Given the description of an element on the screen output the (x, y) to click on. 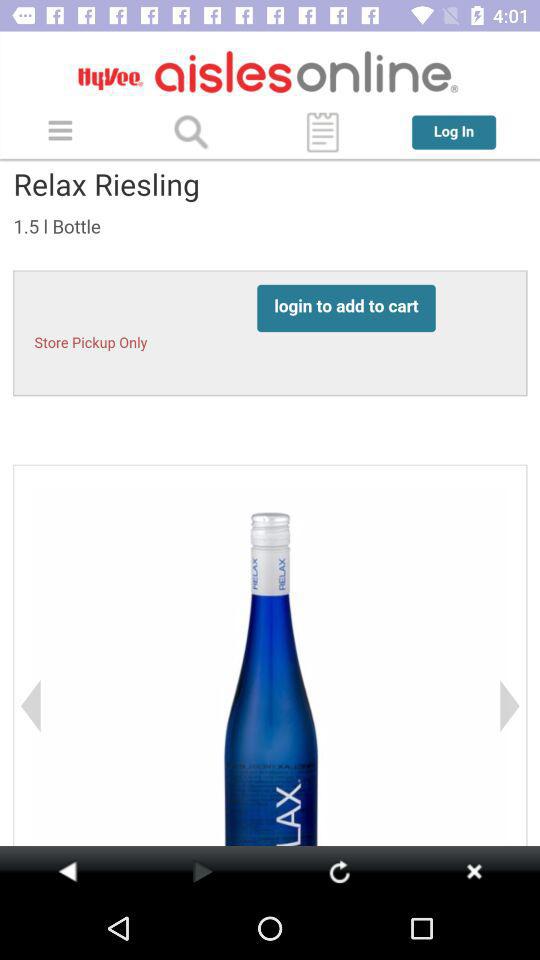
rotate the image (339, 871)
